Given the description of an element on the screen output the (x, y) to click on. 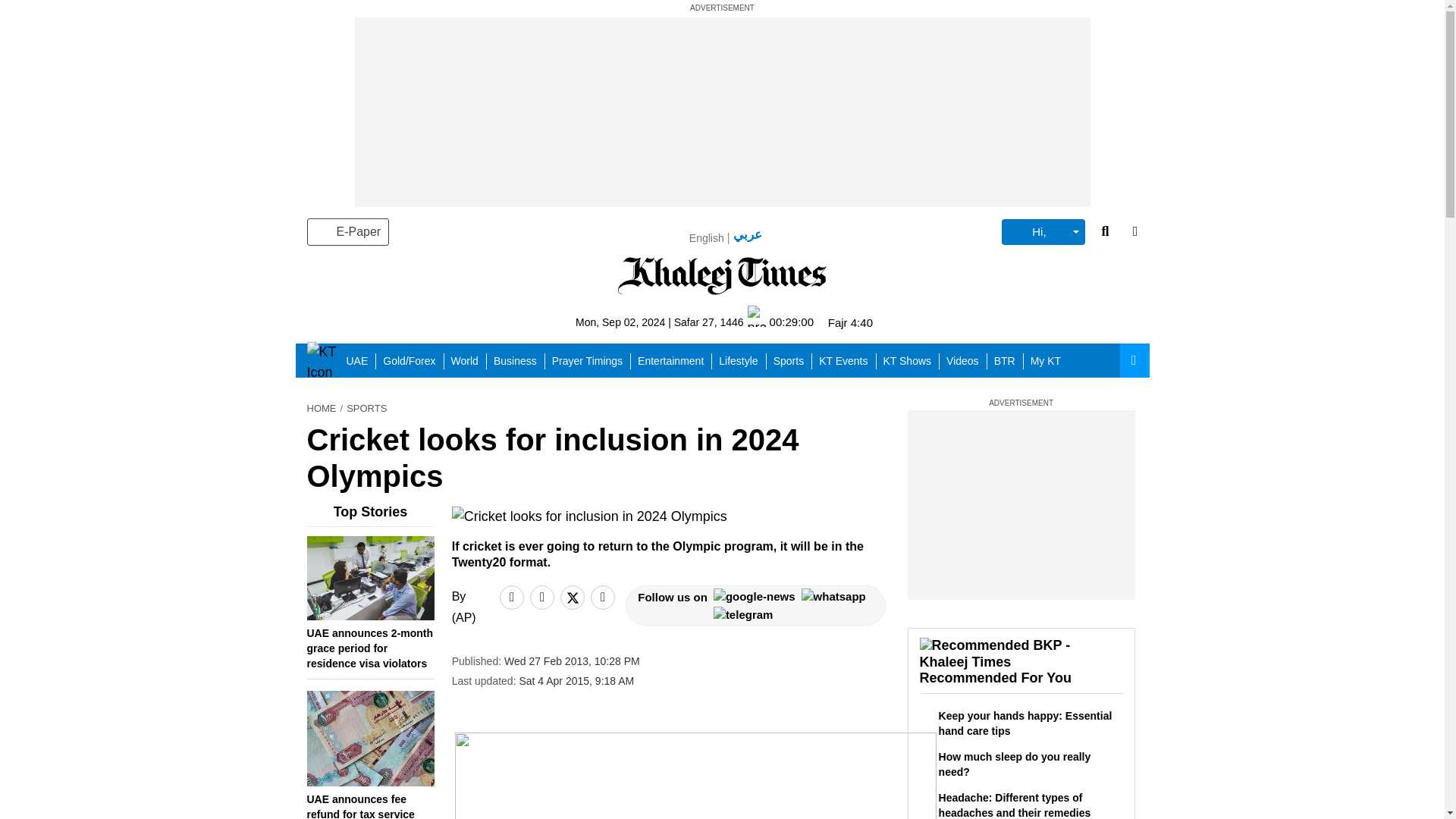
Fajr 4:40 (850, 322)
E-Paper (346, 231)
Hi, (1042, 232)
00:29:00 (780, 321)
